Given the description of an element on the screen output the (x, y) to click on. 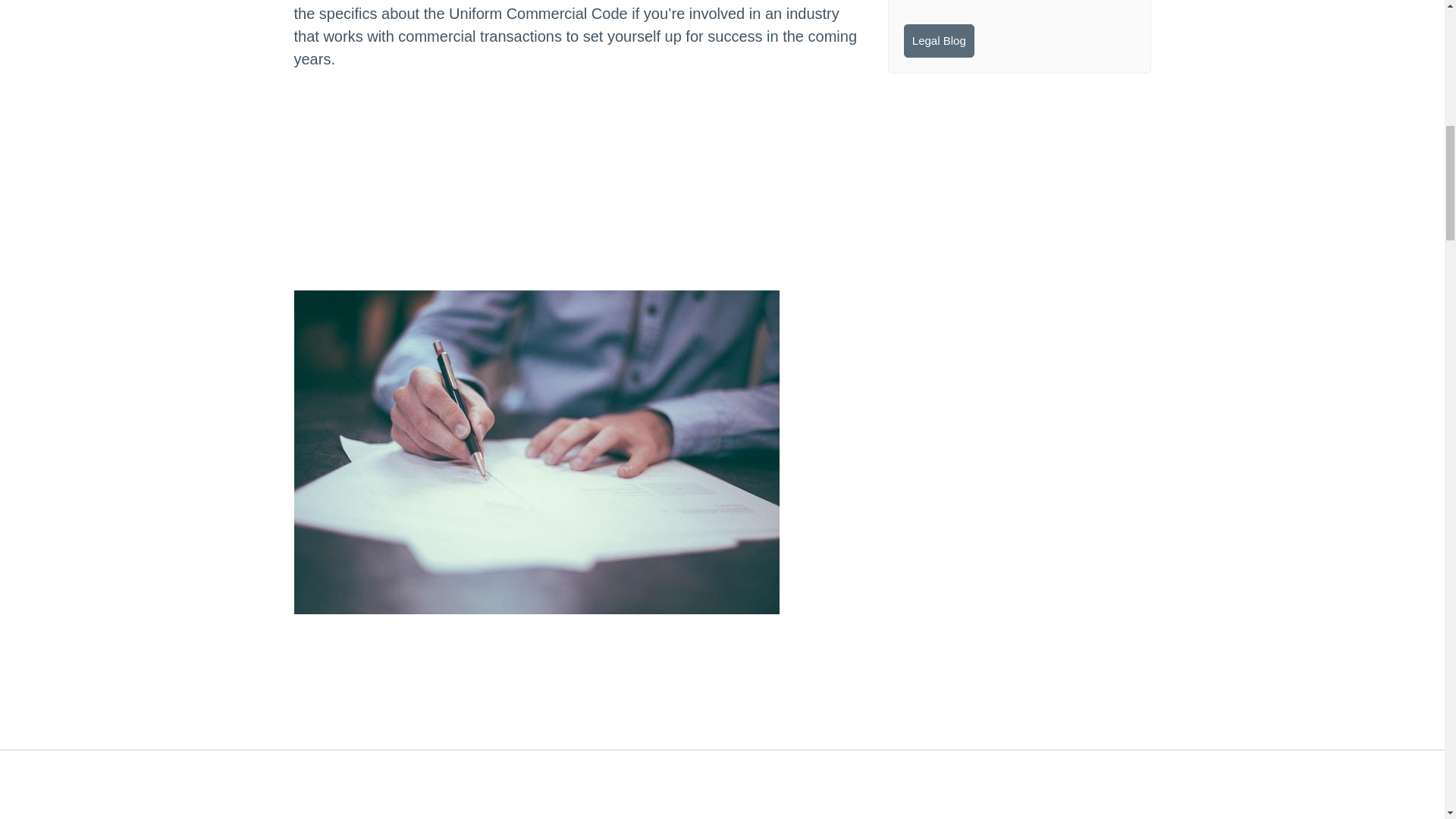
Legal Blog (939, 41)
